Given the description of an element on the screen output the (x, y) to click on. 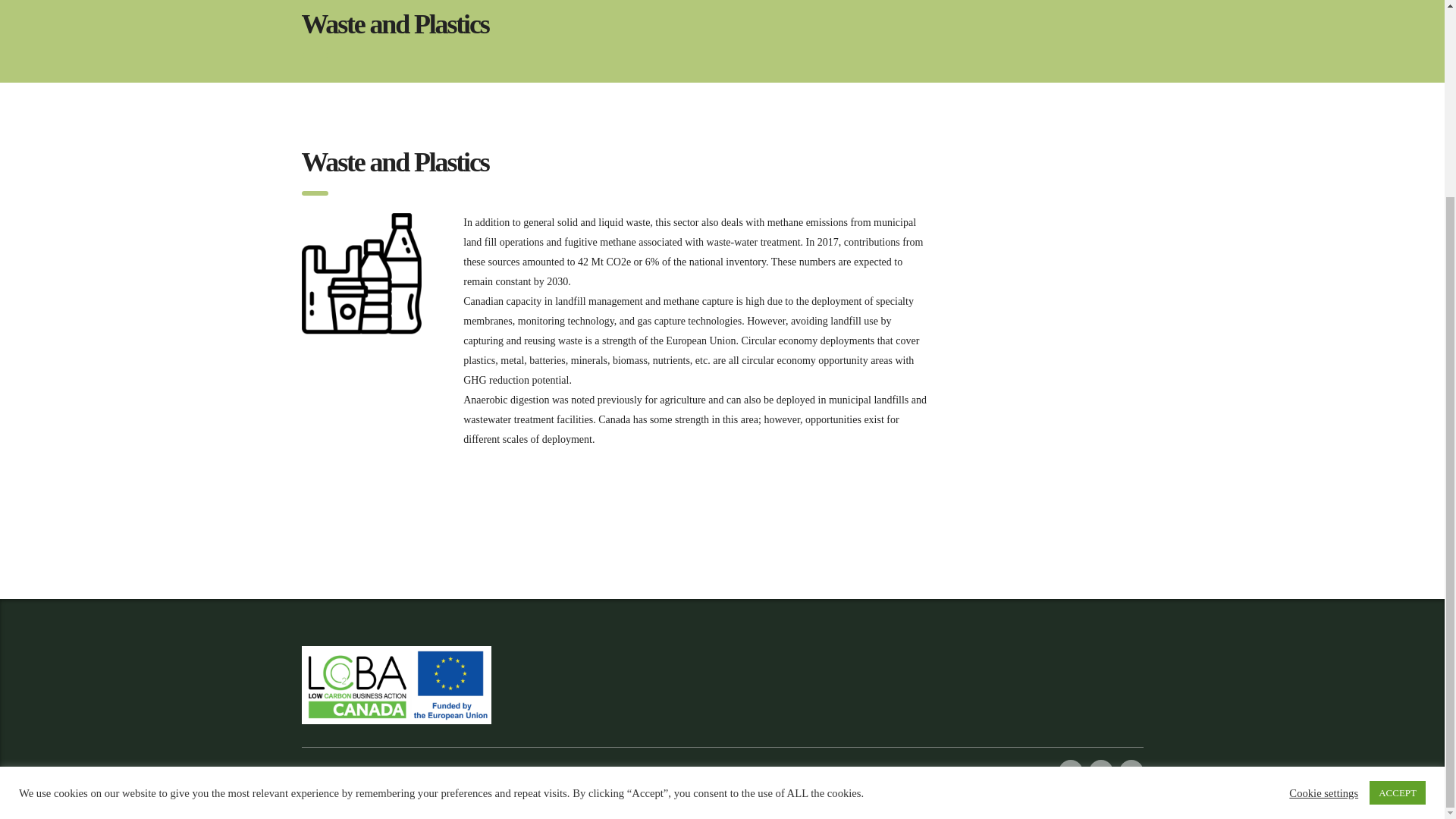
ACCEPT (1397, 543)
Cookie settings (1323, 542)
Icon Waste (361, 273)
